Given the description of an element on the screen output the (x, y) to click on. 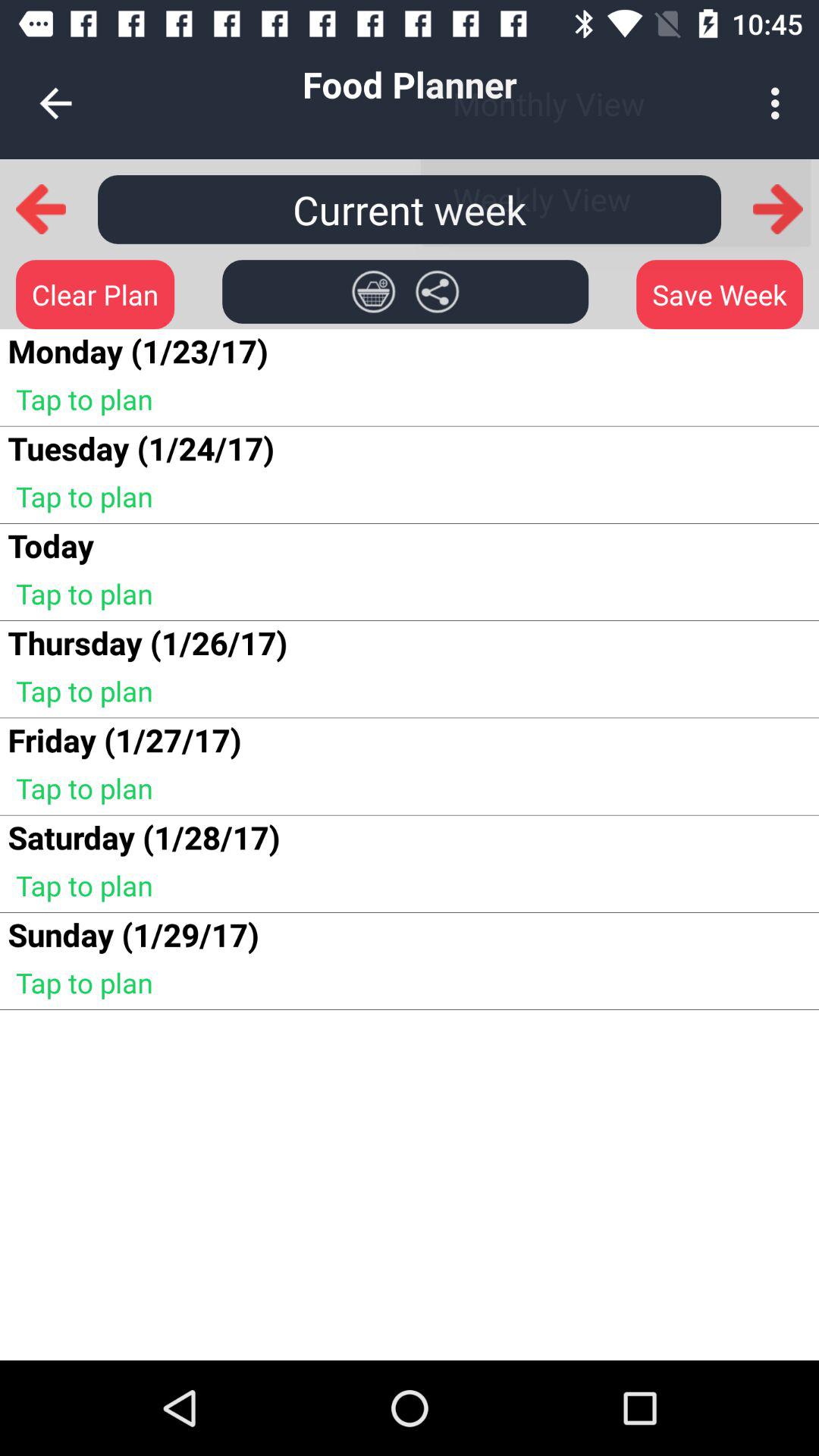
share schedule (437, 291)
